Given the description of an element on the screen output the (x, y) to click on. 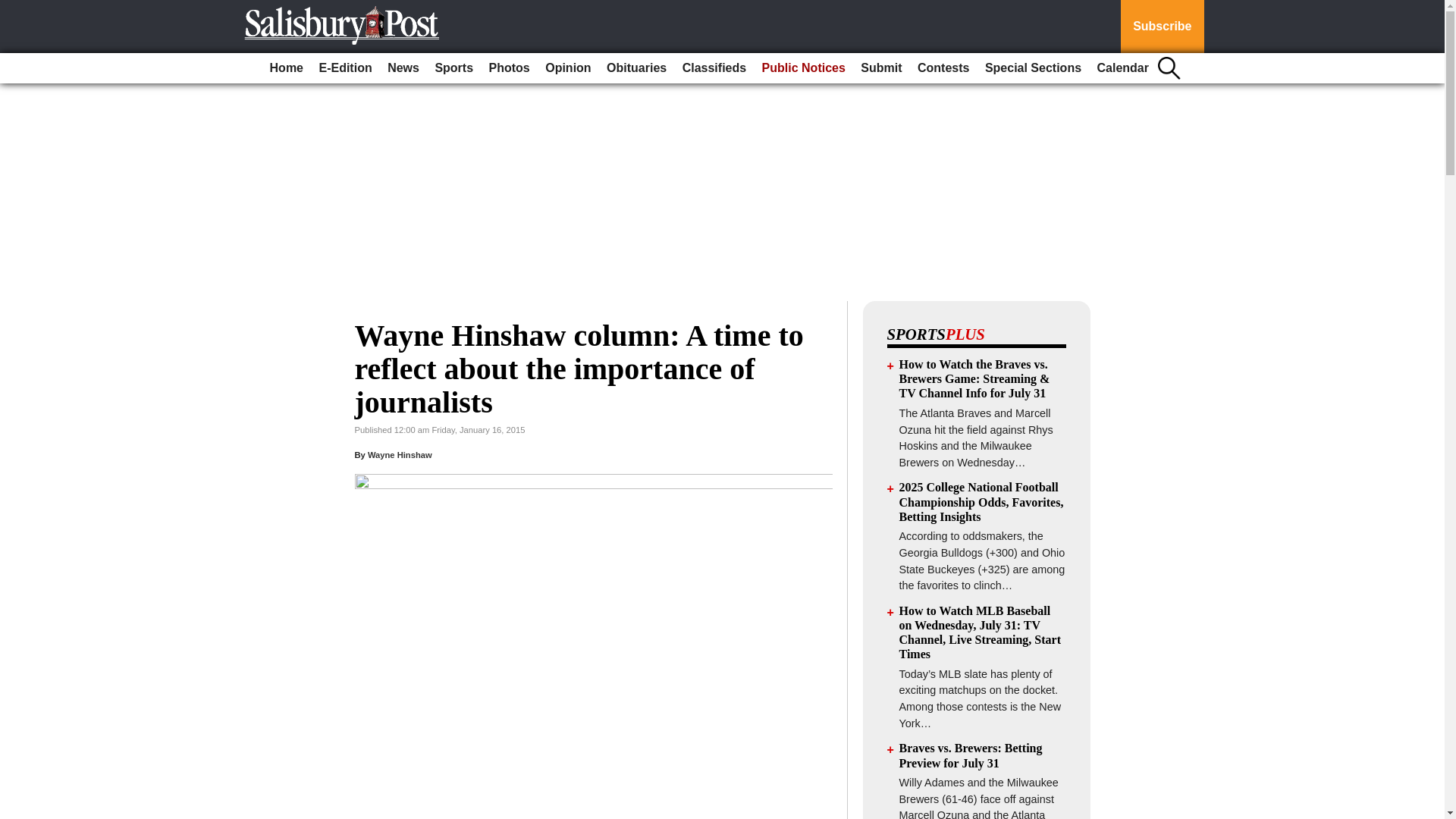
Obituaries (635, 68)
E-Edition (345, 68)
Sports (453, 68)
Contests (943, 68)
Submit (880, 68)
Photos (509, 68)
Public Notices (803, 68)
News (403, 68)
Special Sections (1032, 68)
Home (285, 68)
Opinion (567, 68)
Classifieds (714, 68)
Subscribe (1162, 26)
